Given the description of an element on the screen output the (x, y) to click on. 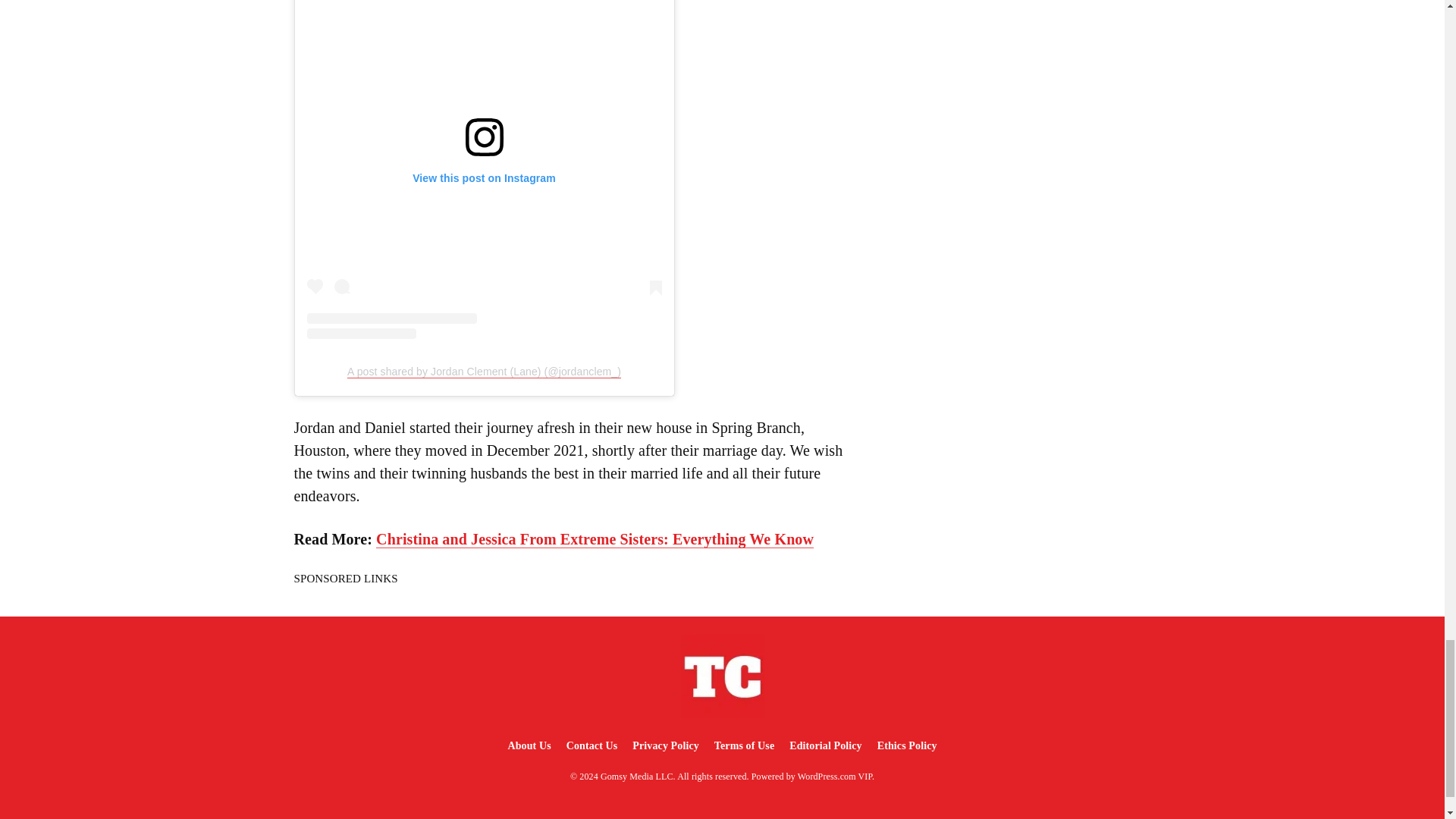
About Us (528, 745)
Ethics Policy (906, 745)
View this post on Instagram (483, 169)
Editorial Policy (825, 745)
Terms of Use (743, 745)
Contact Us (592, 745)
Privacy Policy (665, 745)
WordPress.com VIP (834, 776)
